Given the description of an element on the screen output the (x, y) to click on. 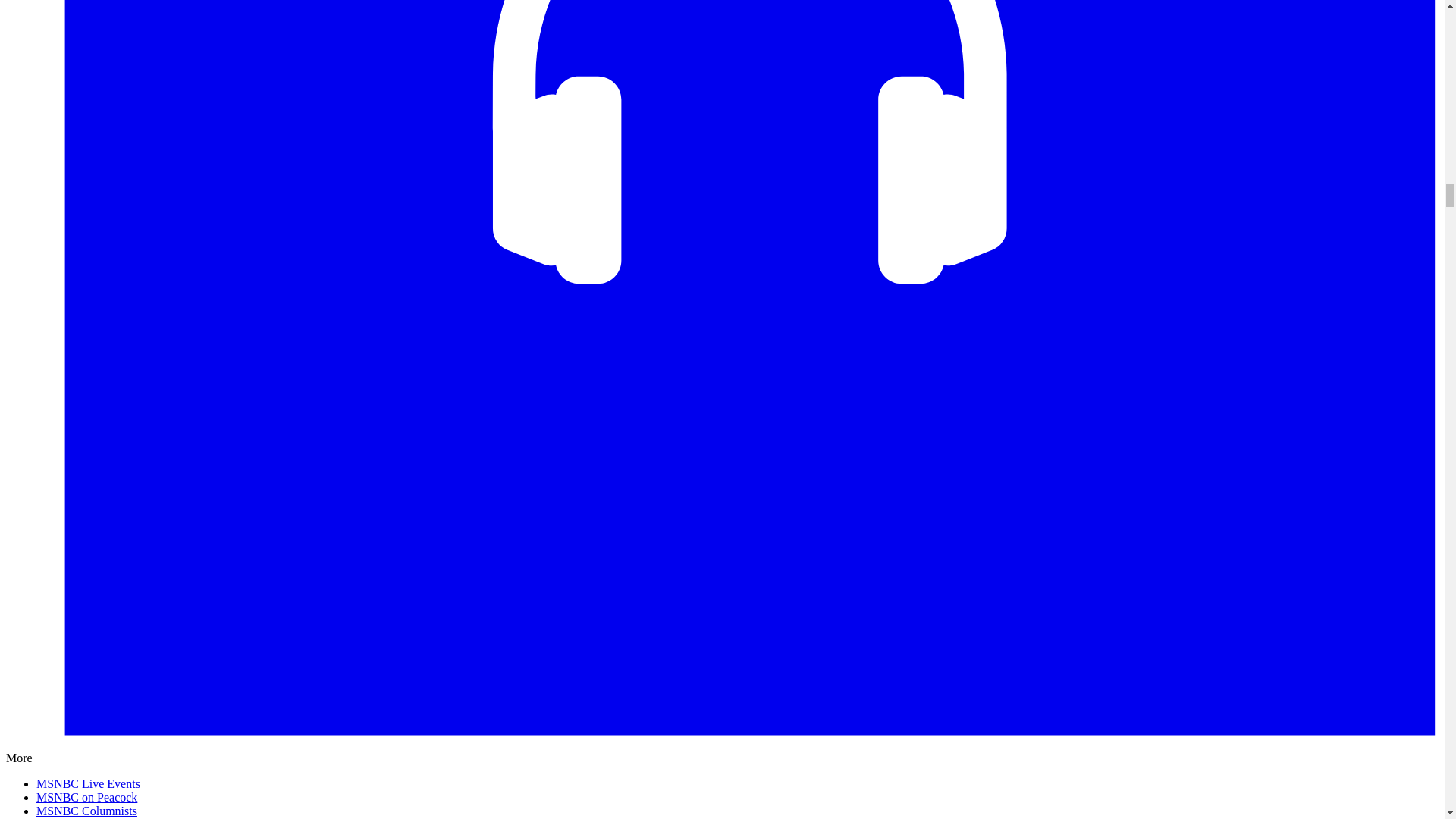
MSNBC on Peacock (86, 797)
MSNBC Live Events (87, 783)
